Given the description of an element on the screen output the (x, y) to click on. 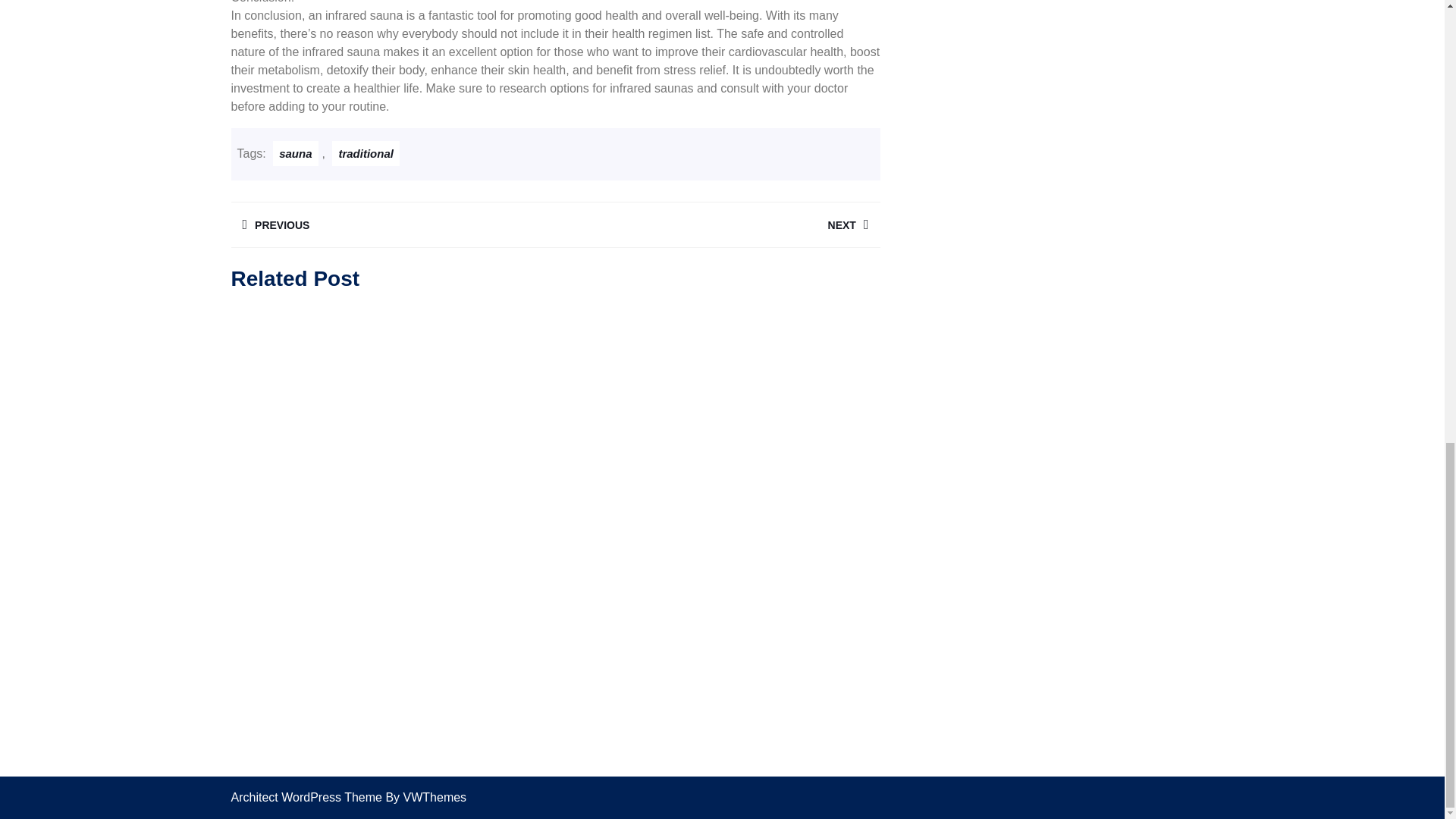
traditional (364, 153)
sauna (716, 224)
